Given the description of an element on the screen output the (x, y) to click on. 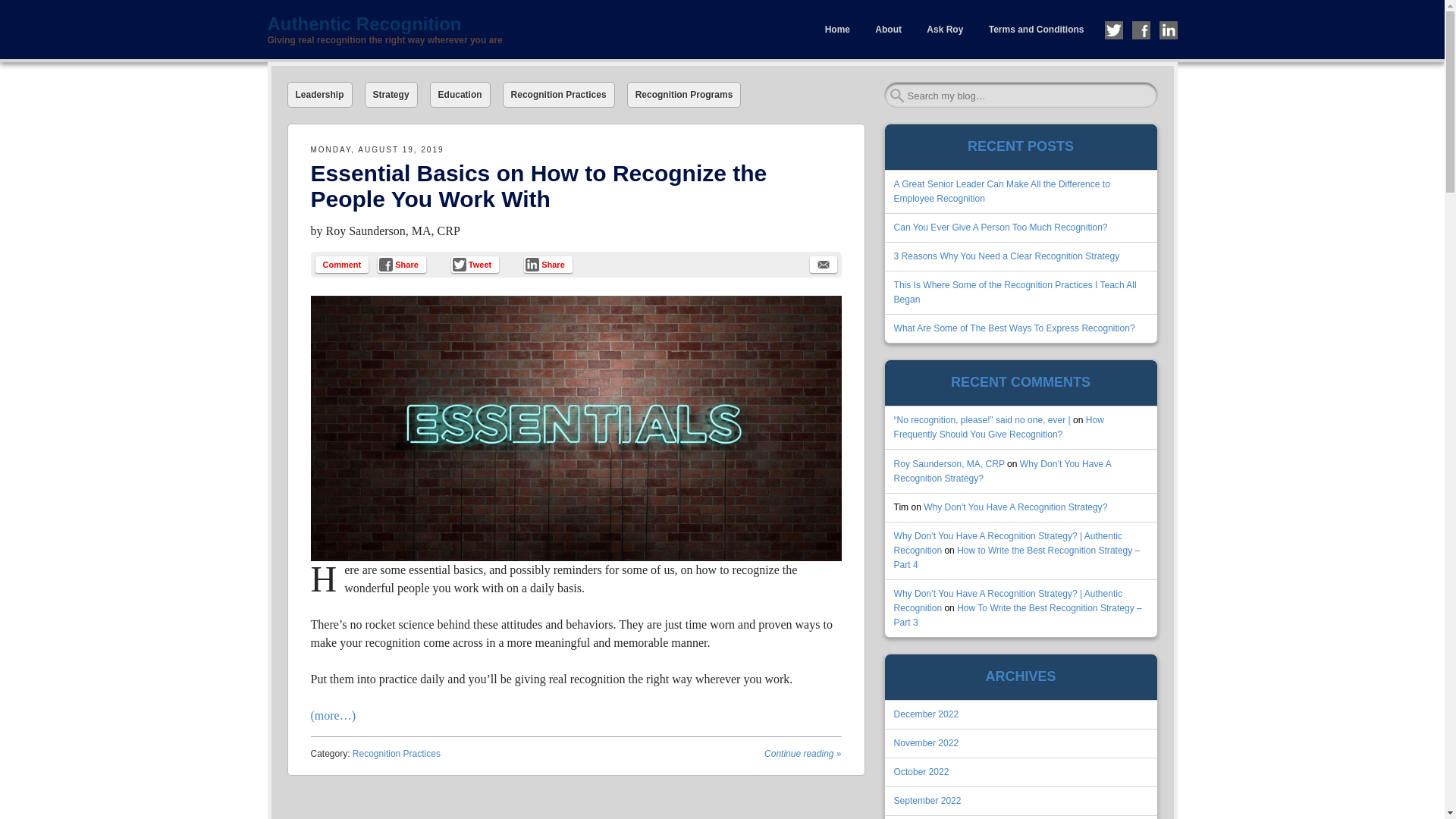
Skip to content (299, 10)
Tweet (475, 264)
Recognition Practices (396, 753)
Leadership (319, 94)
Tweet this Post (475, 264)
How Frequently Should You Give Recognition? (998, 426)
Ask Roy (944, 29)
Authentic Recognition (494, 24)
